Given the description of an element on the screen output the (x, y) to click on. 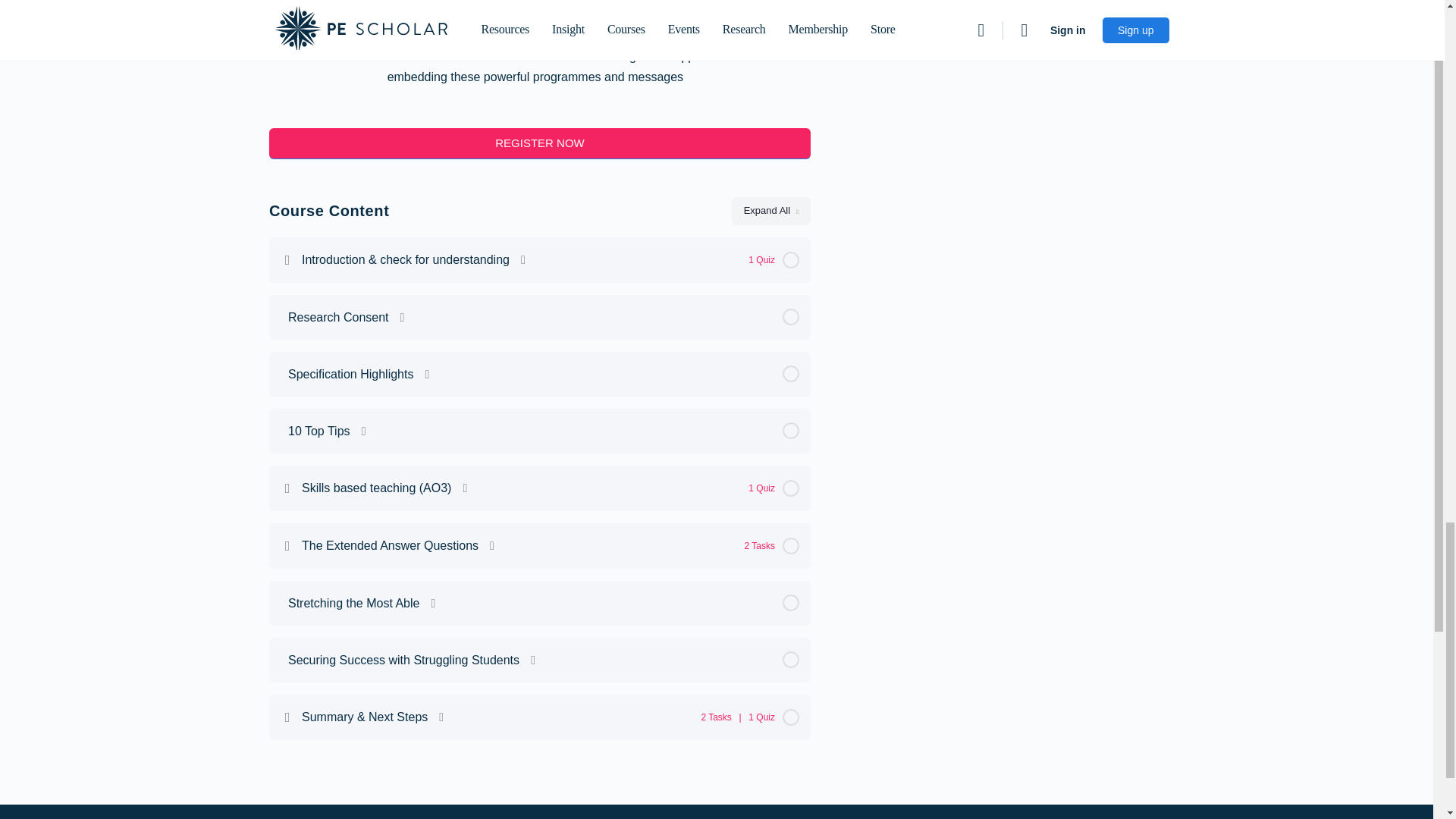
Research Consent (540, 317)
Register Now (539, 142)
Specification Highlights (540, 373)
REGISTER NOW (539, 142)
